Given the description of an element on the screen output the (x, y) to click on. 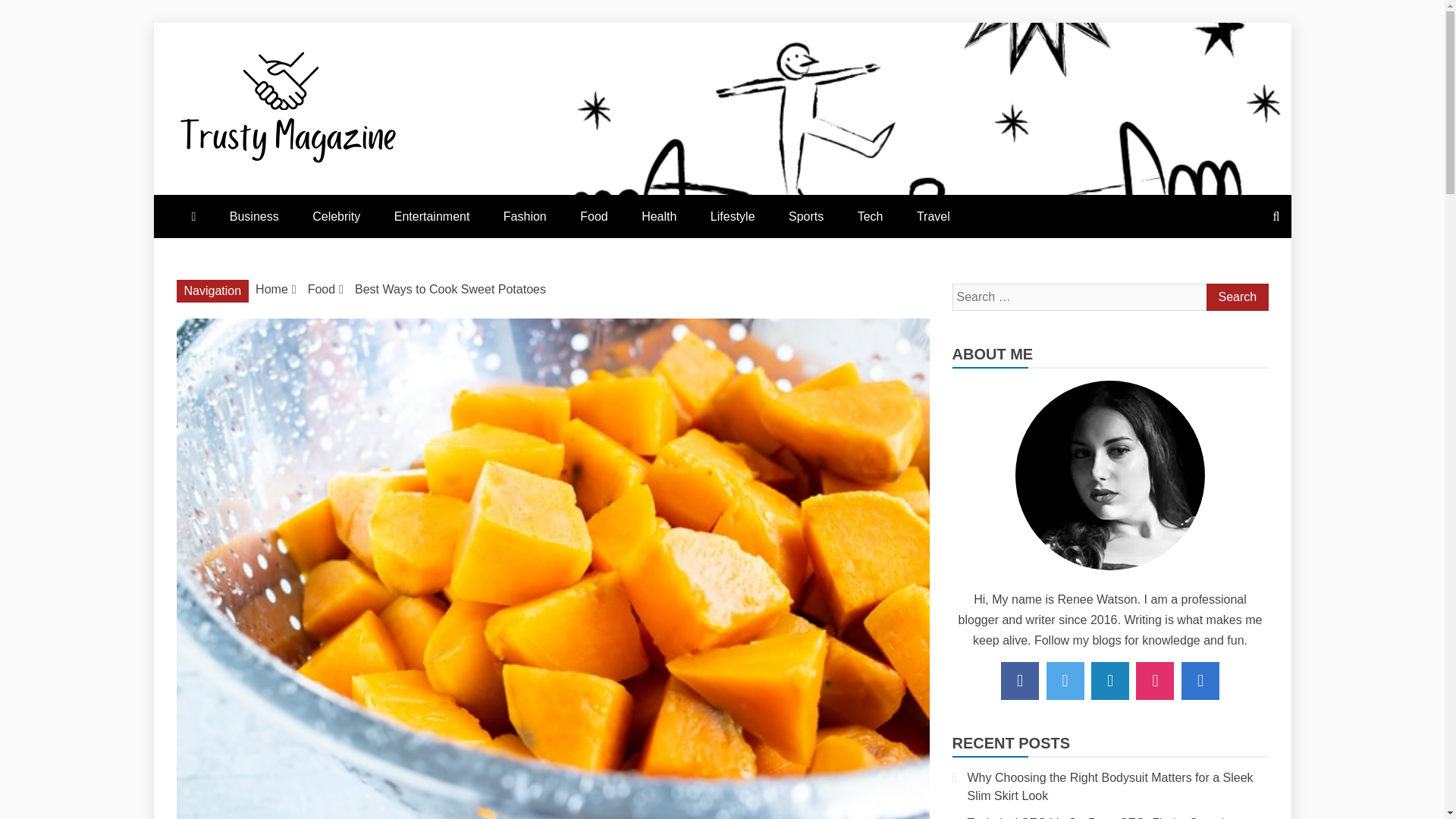
Entertainment (431, 216)
Business (254, 216)
Travel (933, 216)
Home (272, 288)
Sports (805, 216)
Food (320, 288)
Celebrity (336, 216)
Tech (870, 216)
Lifestyle (732, 216)
Food (593, 216)
Search (1236, 297)
Search (1236, 297)
TRUSTY MAGAZINE (414, 200)
Fashion (524, 216)
